Given the description of an element on the screen output the (x, y) to click on. 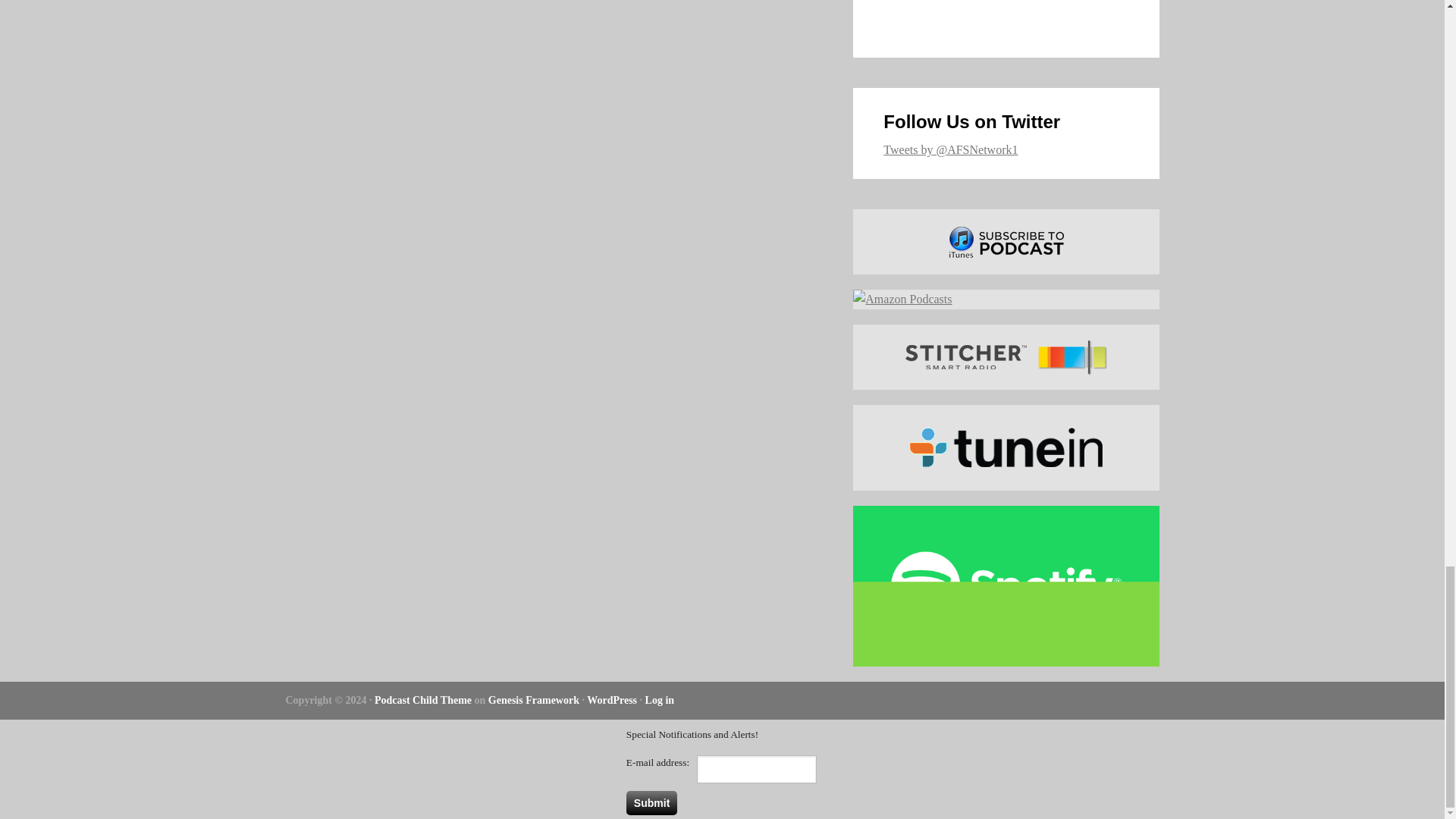
tunein (1005, 447)
Submit (651, 802)
Podcast Child Theme (422, 699)
Spotify  (1005, 586)
Genesis Framework (533, 699)
Amazon Podcasts (1005, 299)
Log in (660, 699)
itunes (1005, 241)
WordPress (611, 699)
stitcher (1005, 356)
Submit (651, 802)
